Given the description of an element on the screen output the (x, y) to click on. 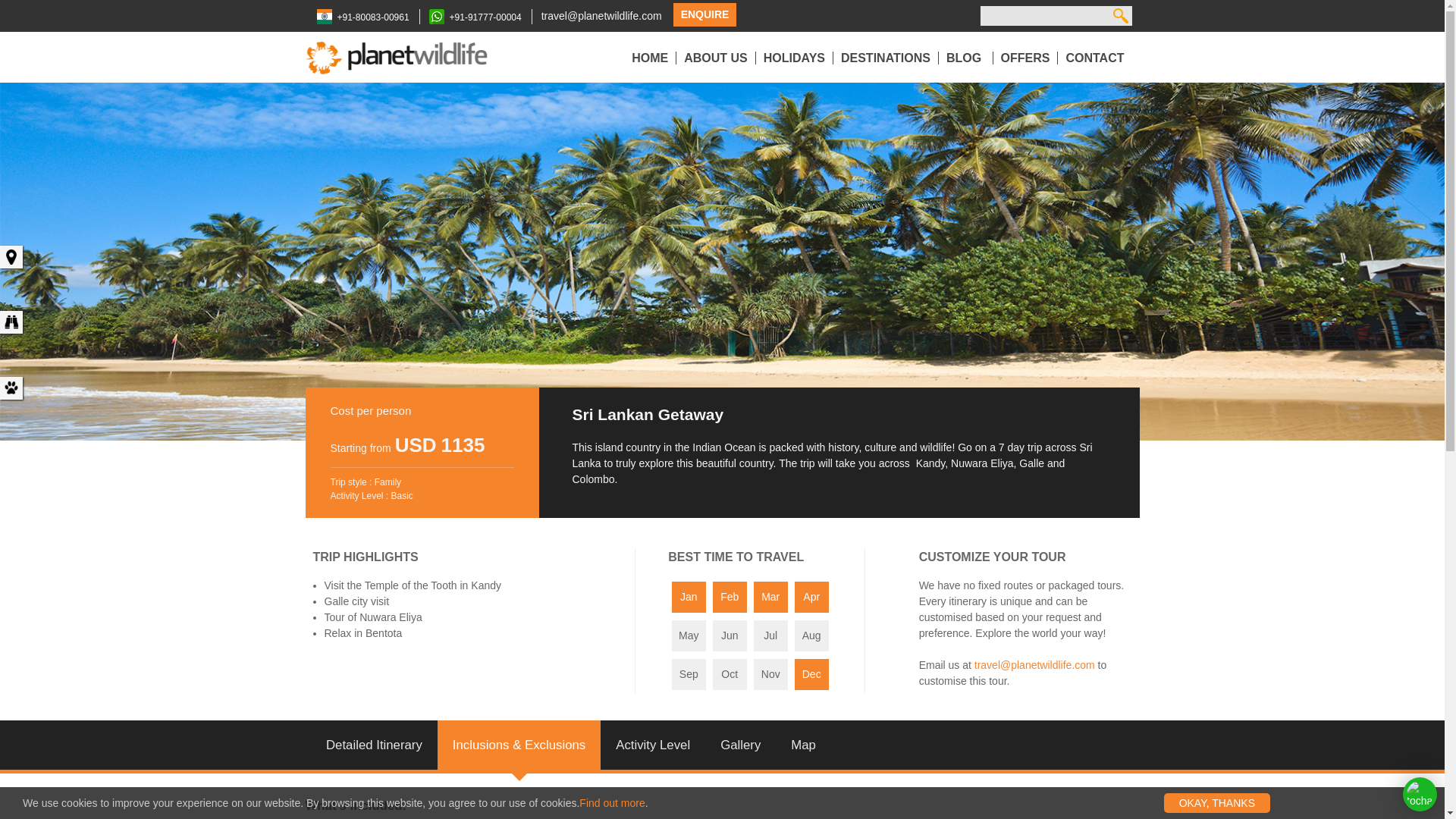
Search (1119, 15)
ABOUT US (719, 57)
Enter the terms you wish to search for. (1043, 15)
ENQUIRE (704, 14)
Search (1119, 15)
DESTINATIONS (890, 57)
HOME (654, 57)
HOLIDAYS (797, 57)
